Given the description of an element on the screen output the (x, y) to click on. 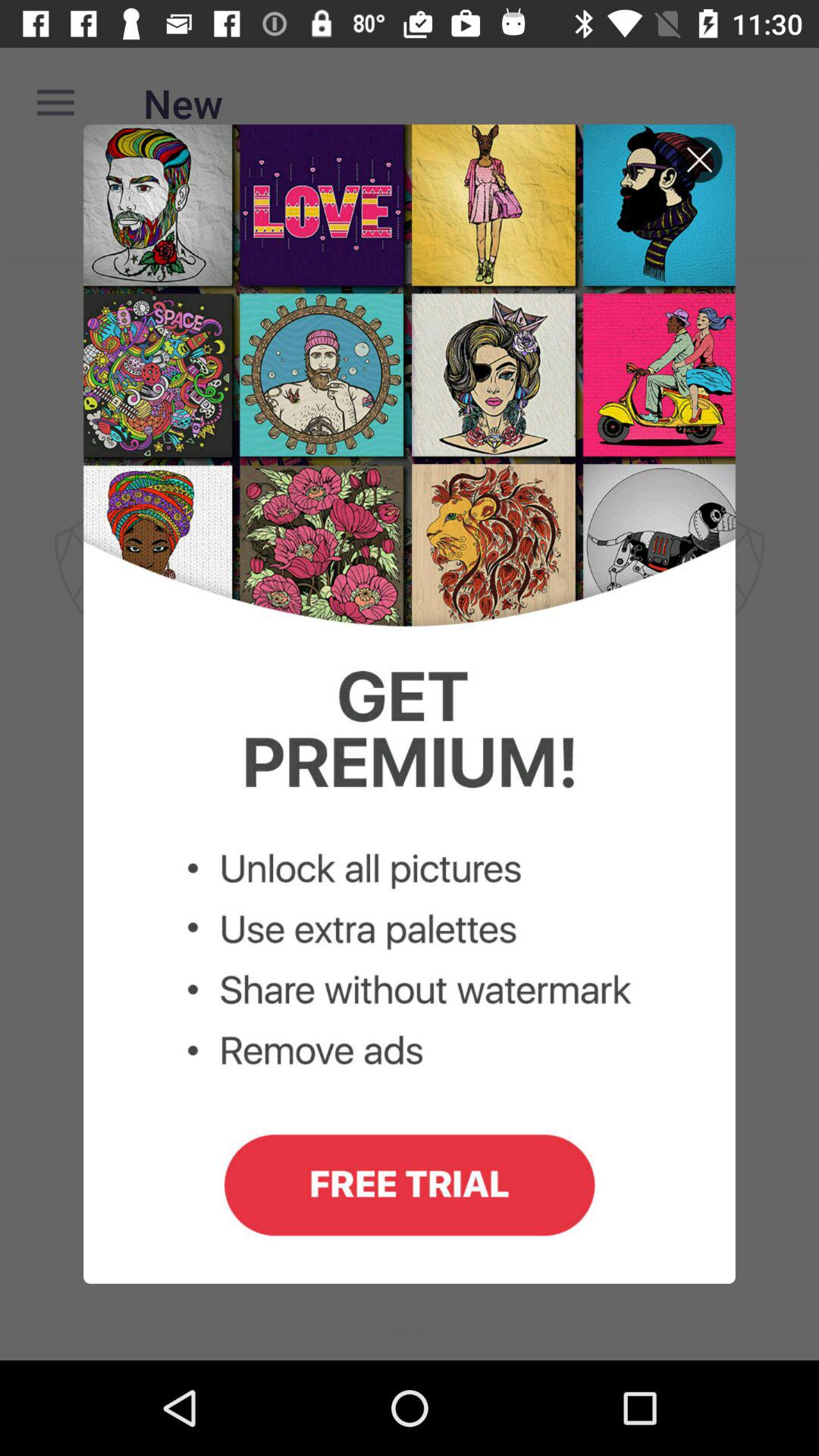
go to site (409, 703)
